Given the description of an element on the screen output the (x, y) to click on. 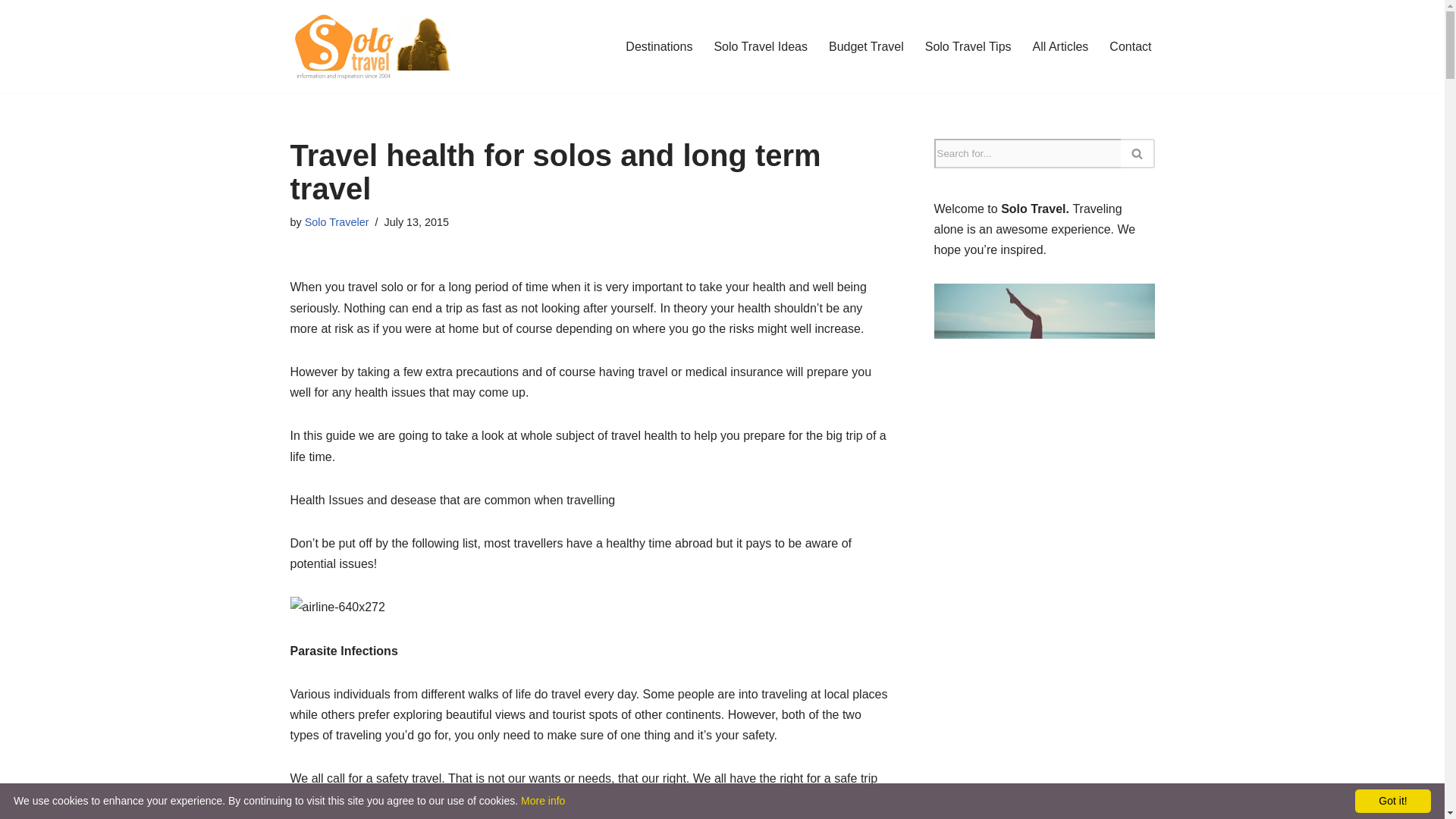
Posts by Solo Traveler (336, 222)
Solo Traveler (336, 222)
Solo Travel Ideas (760, 46)
Destinations (659, 46)
Contact (1130, 46)
Solo Travel Tips (967, 46)
Budget Travel (866, 46)
Skip to content (11, 31)
All Articles (1060, 46)
